Given the description of an element on the screen output the (x, y) to click on. 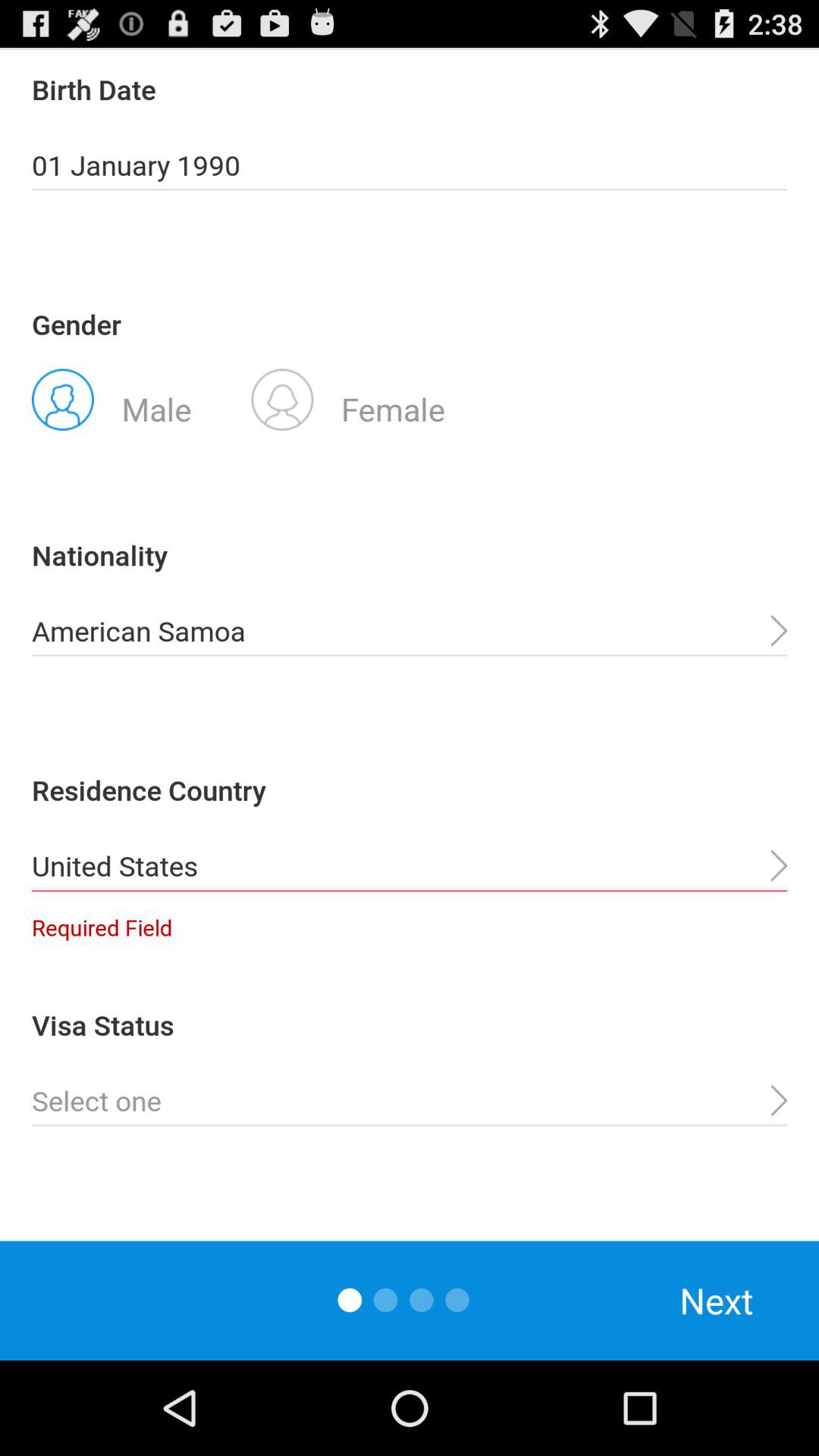
select the 01 january 1990 icon (409, 165)
